Given the description of an element on the screen output the (x, y) to click on. 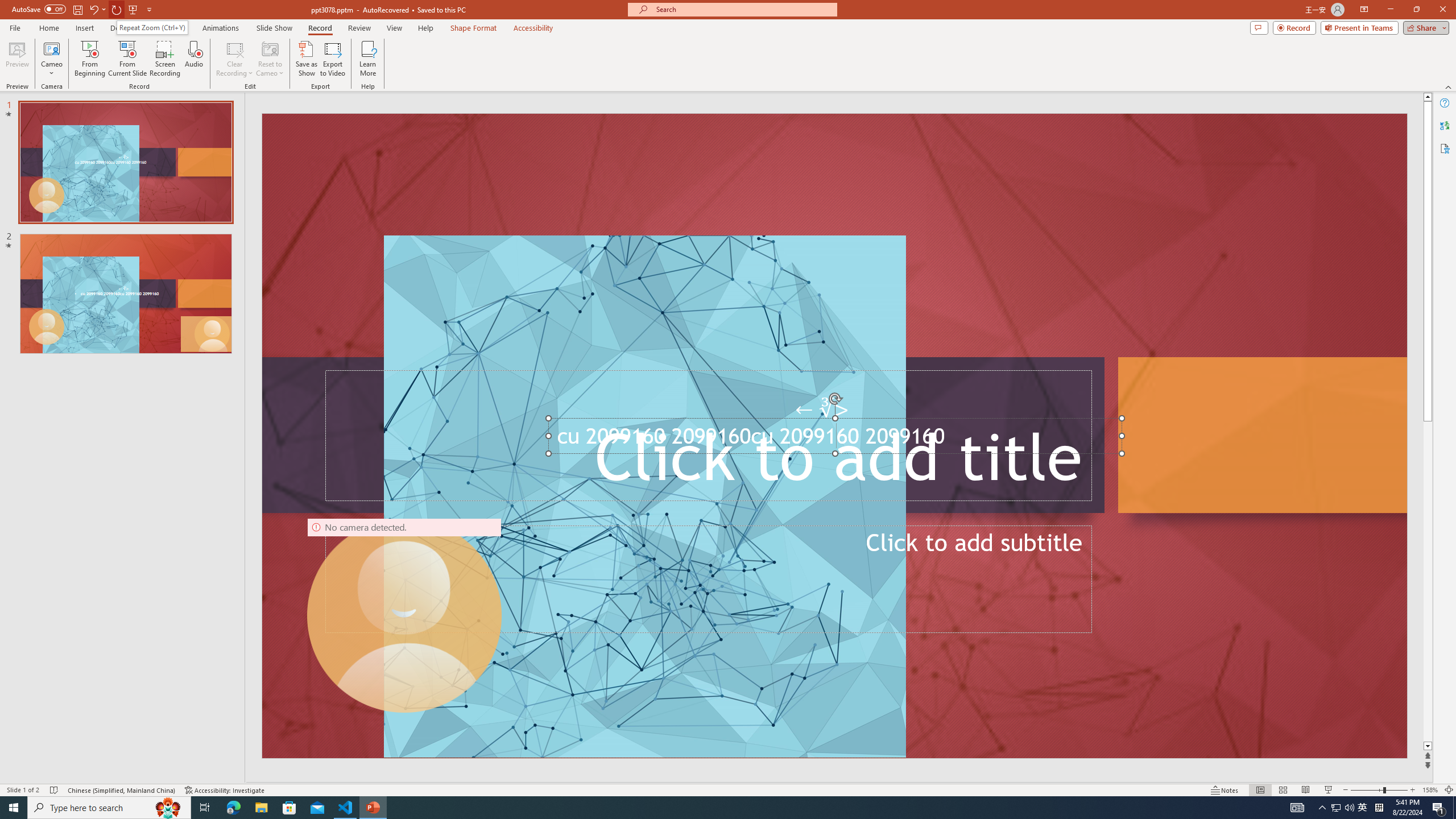
Repeat Zoom (Ctrl+Y) (151, 27)
Learn More (368, 58)
